Given the description of an element on the screen output the (x, y) to click on. 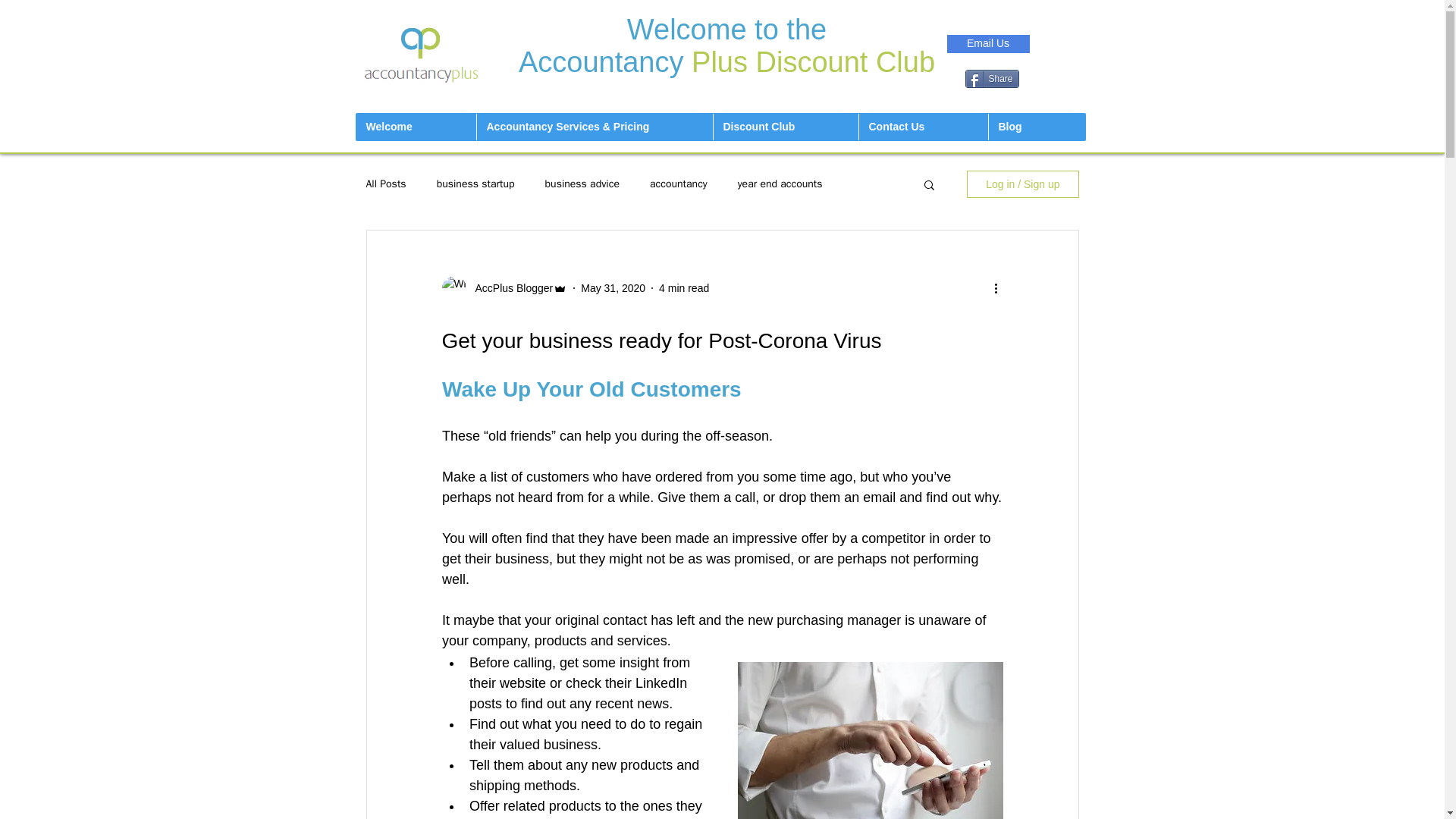
Contact Us (923, 126)
Facebook Like (992, 20)
May 31, 2020 (612, 287)
Plus Discount Club (812, 61)
Welcome (416, 126)
business startup (475, 183)
AccPlus Blogger (509, 288)
business advice (582, 183)
Email Us (987, 44)
Share (990, 78)
Discount Club (786, 126)
Share (990, 78)
accountancy (678, 183)
4 min read (684, 287)
Blog (1035, 126)
